Given the description of an element on the screen output the (x, y) to click on. 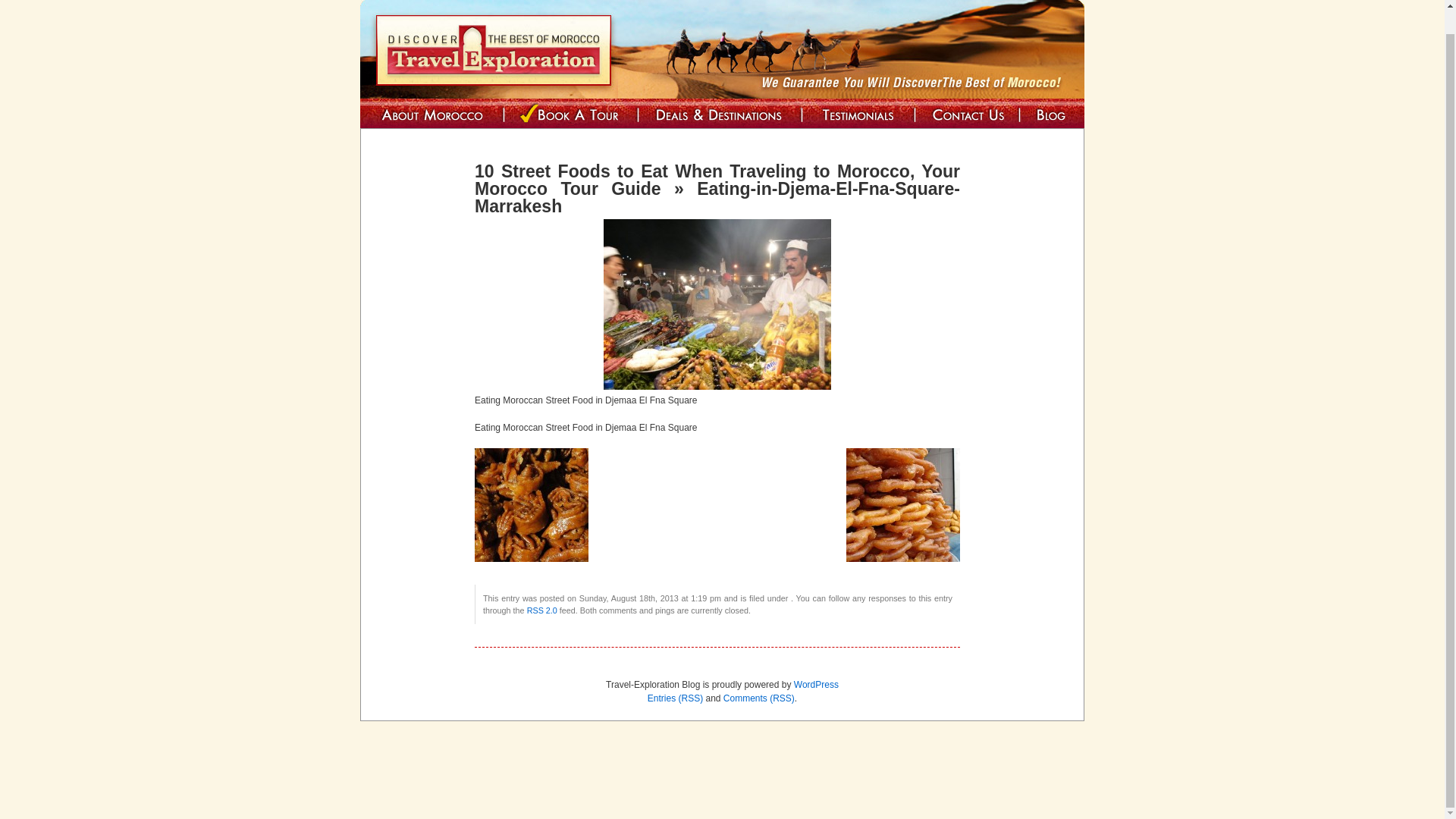
RSS 2.0 (542, 610)
